Given the description of an element on the screen output the (x, y) to click on. 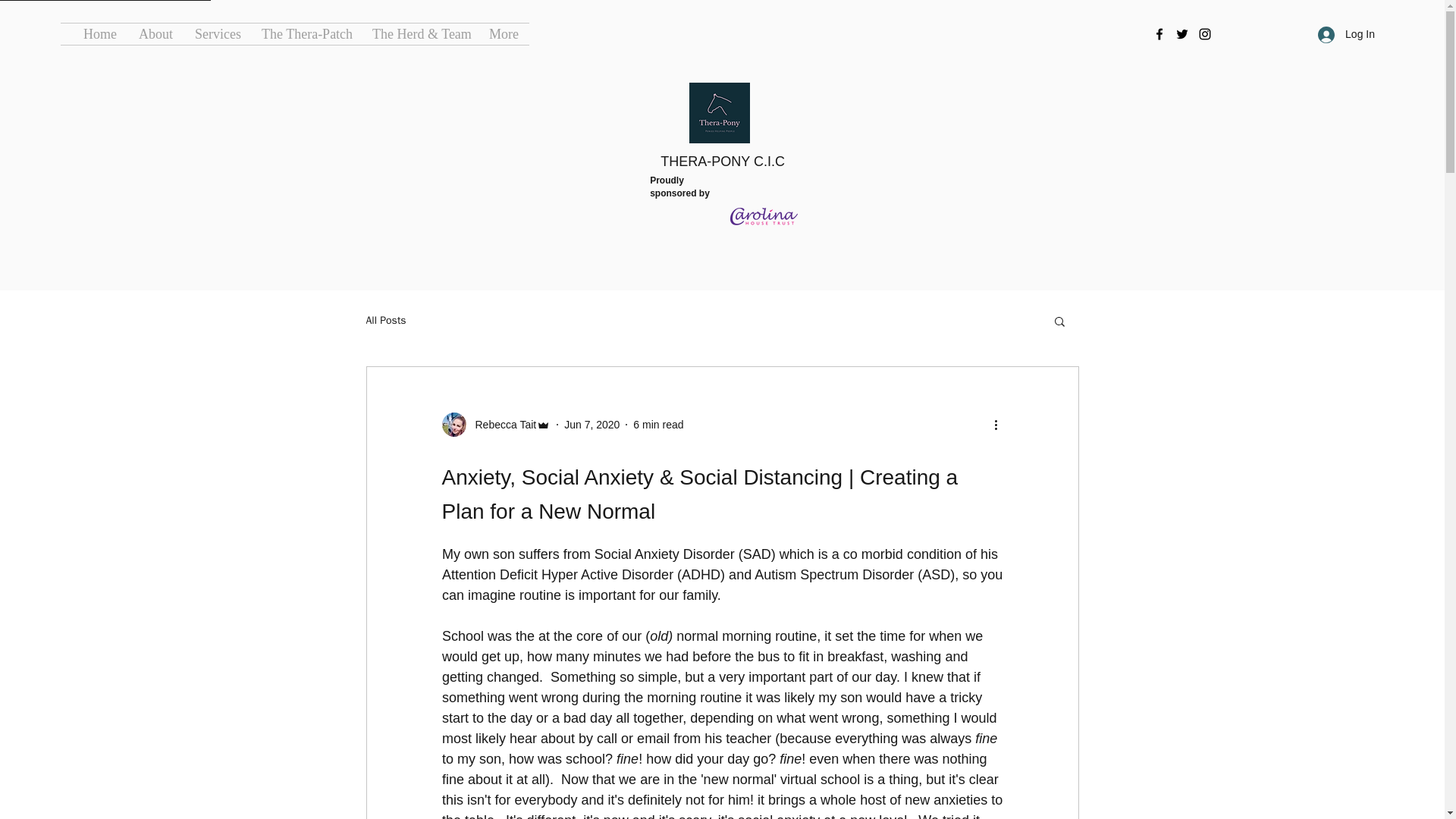
About (155, 34)
Jun 7, 2020 (592, 424)
Services (216, 34)
The Thera-Patch (305, 34)
Log In (1346, 34)
Rebecca Tait (500, 424)
Rebecca Tait (495, 424)
Home (99, 34)
Good To Go Scotland -.png (268, 141)
6 min read (657, 424)
All Posts (385, 320)
Carolina House Logo NO BACKGROUND.png (763, 219)
